Given the description of an element on the screen output the (x, y) to click on. 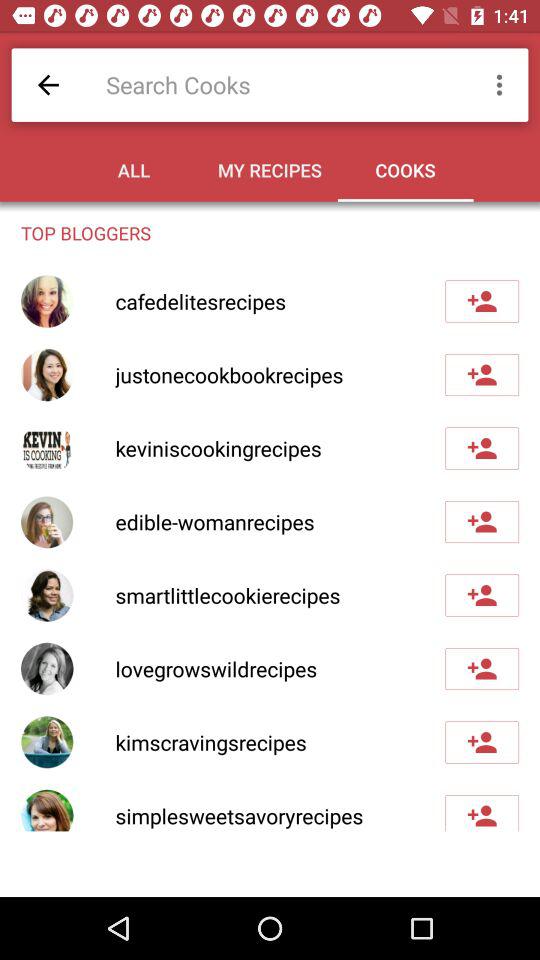
turn on icon above the top bloggers item (501, 84)
